Given the description of an element on the screen output the (x, y) to click on. 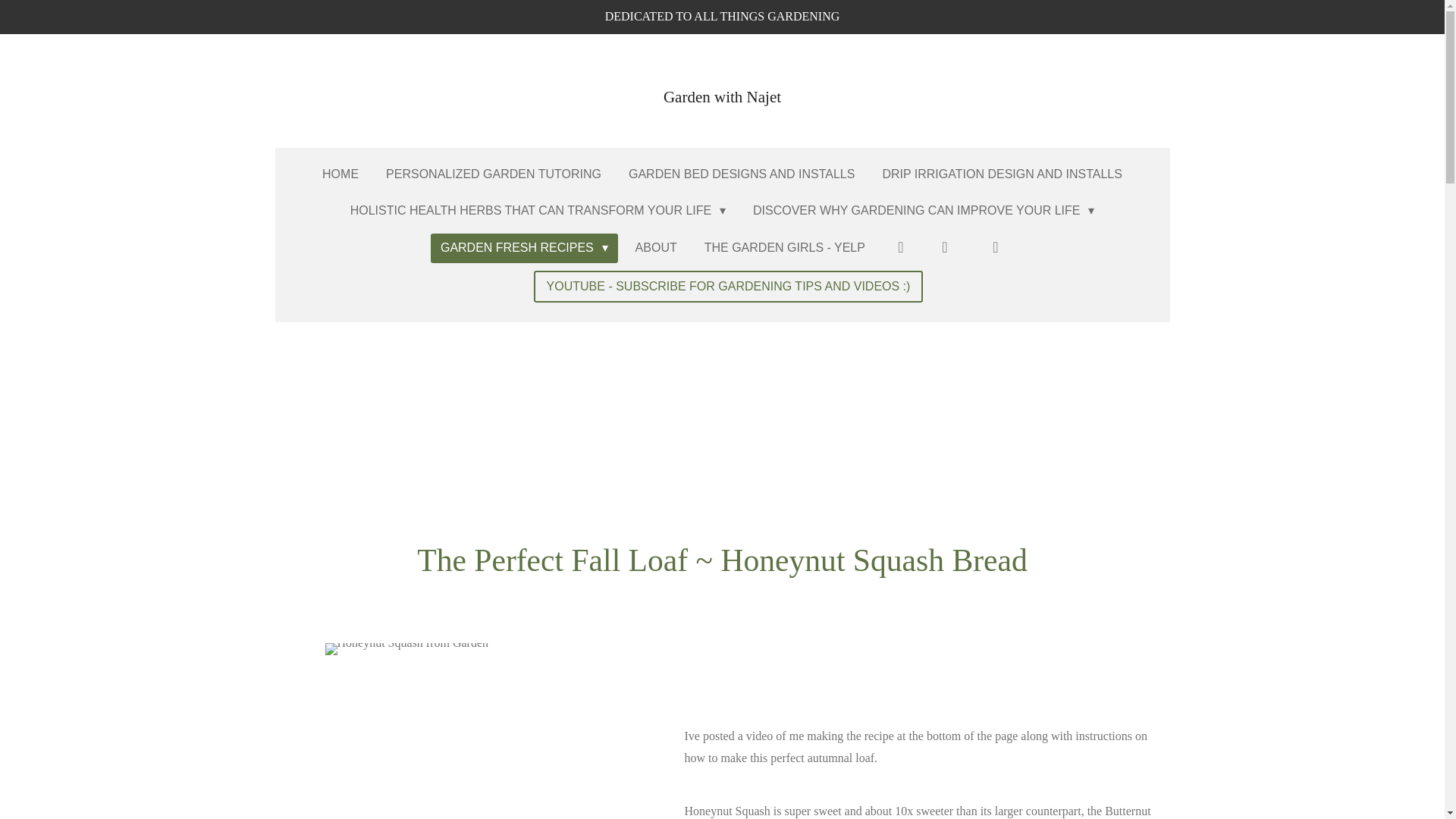
HOLISTIC HEALTH HERBS THAT CAN TRANSFORM YOUR LIFE (537, 211)
HOME (340, 174)
Account (900, 247)
Garden with Najet (721, 89)
DISCOVER WHY GARDENING CAN IMPROVE YOUR LIFE (922, 211)
DRIP IRRIGATION DESIGN AND INSTALLS (1002, 174)
Search (944, 247)
GARDEN FRESH RECIPES (523, 247)
Cart (992, 247)
GARDEN BED DESIGNS AND INSTALLS (741, 174)
PERSONALIZED GARDEN TUTORING (493, 174)
